Given the description of an element on the screen output the (x, y) to click on. 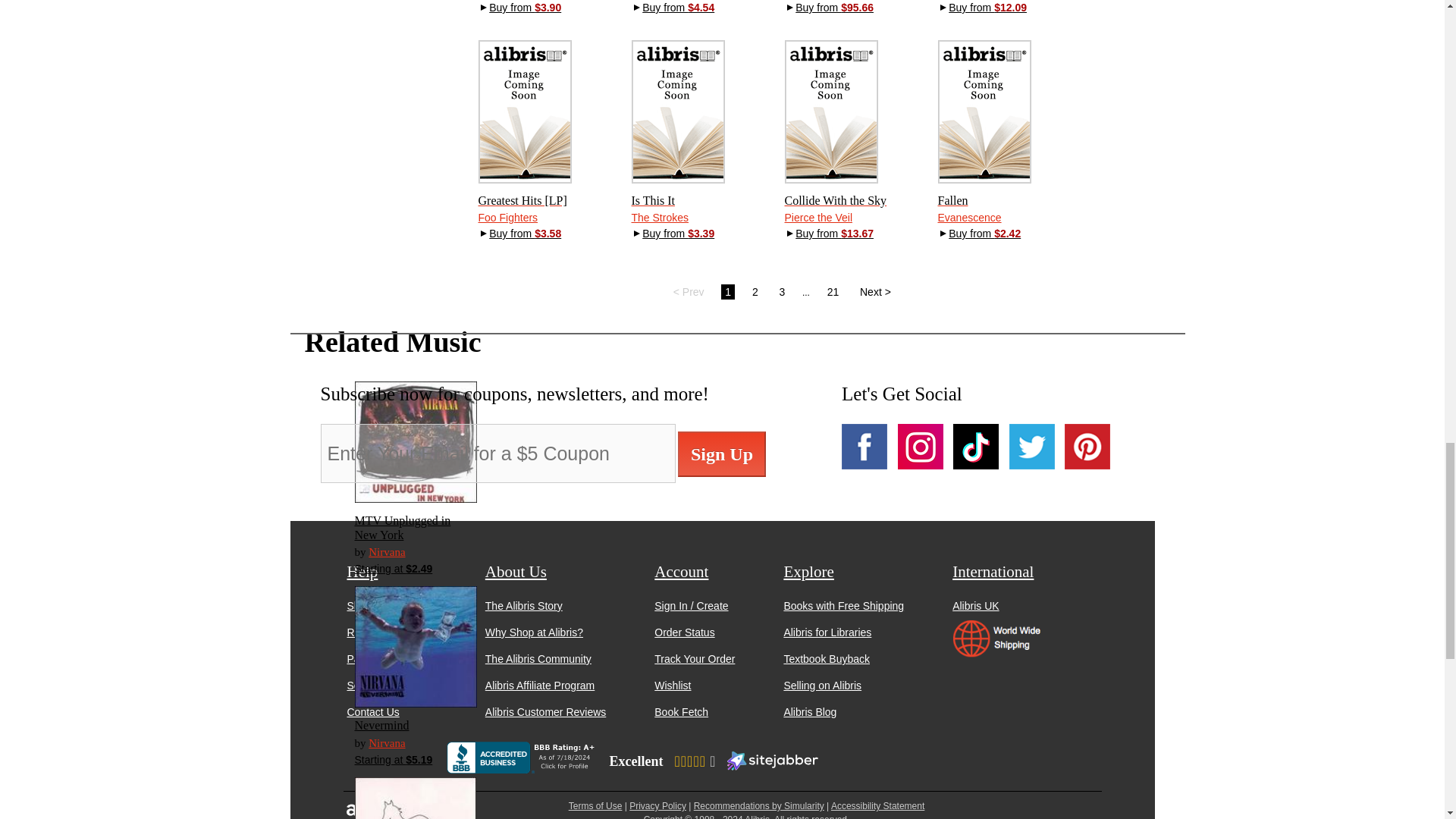
4.7 star rating (694, 761)
4.7 star rating (694, 761)
